Given the description of an element on the screen output the (x, y) to click on. 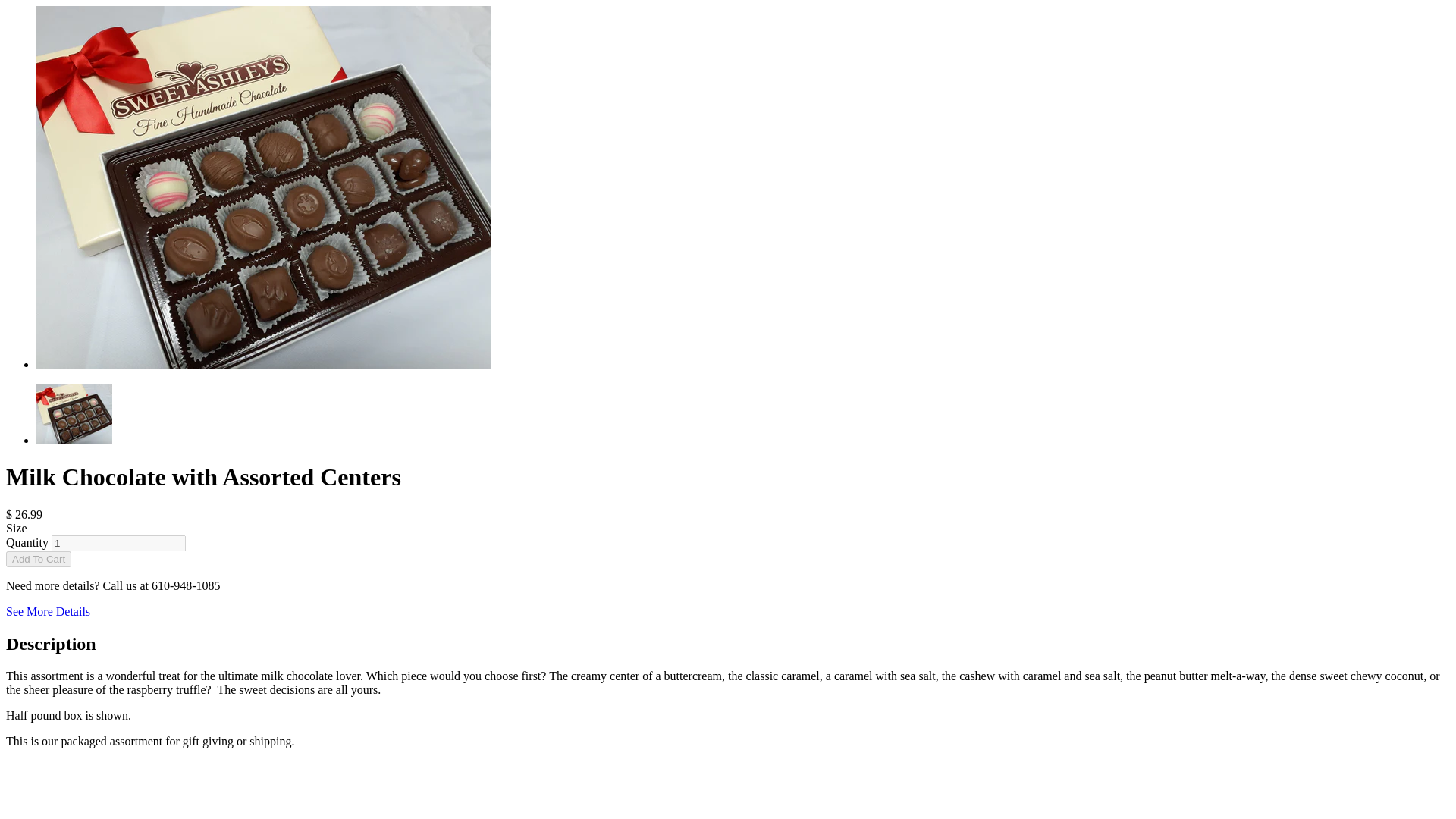
1 (118, 543)
Add To Cart (38, 559)
See More Details (47, 611)
